Given the description of an element on the screen output the (x, y) to click on. 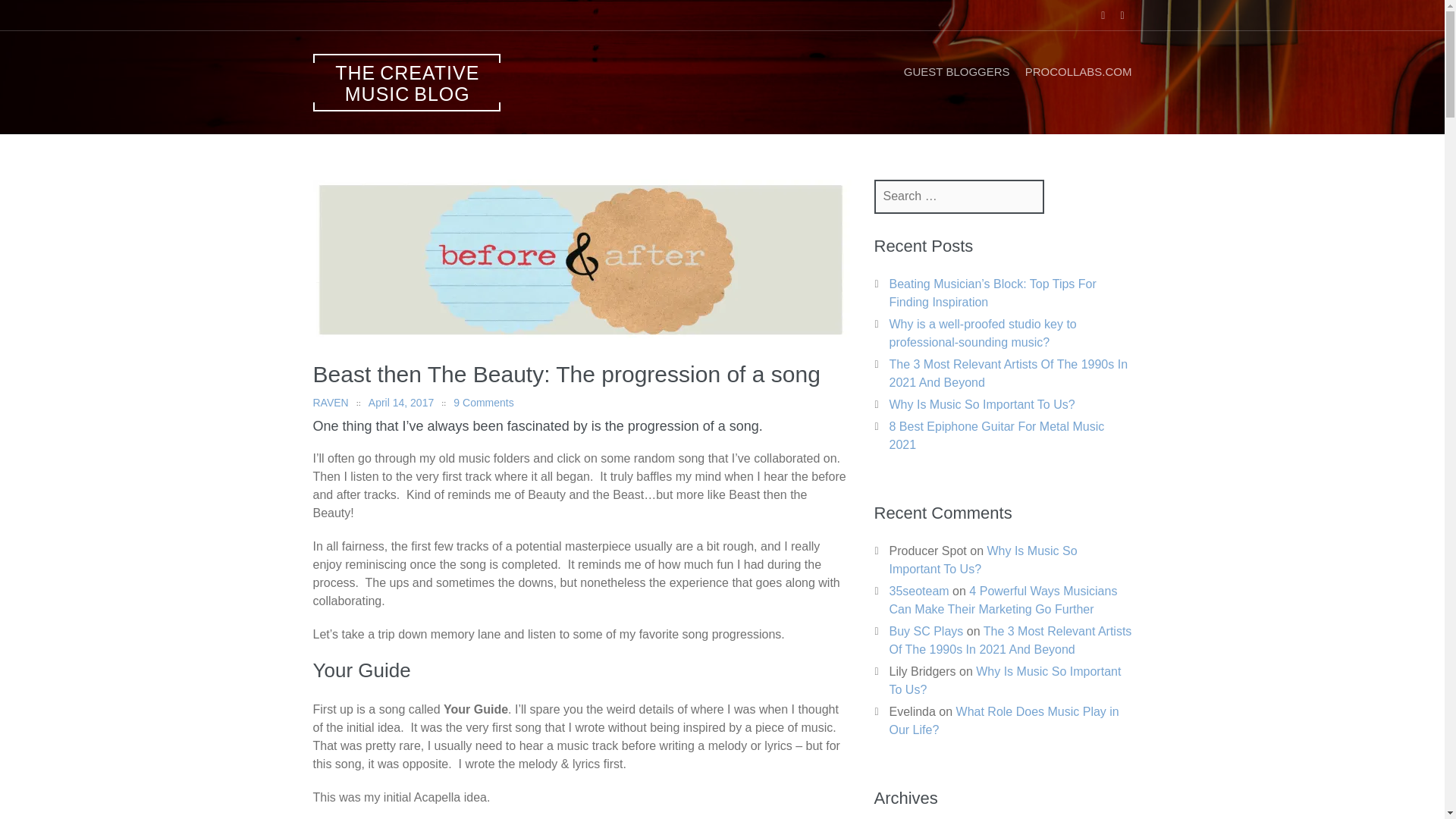
April 14, 2017 (400, 402)
GUEST BLOGGERS (957, 72)
9 Comments (482, 402)
PROCOLLABS.COM (1078, 72)
RAVEN (330, 402)
THE CREATIVE MUSIC BLOG (406, 82)
